Given the description of an element on the screen output the (x, y) to click on. 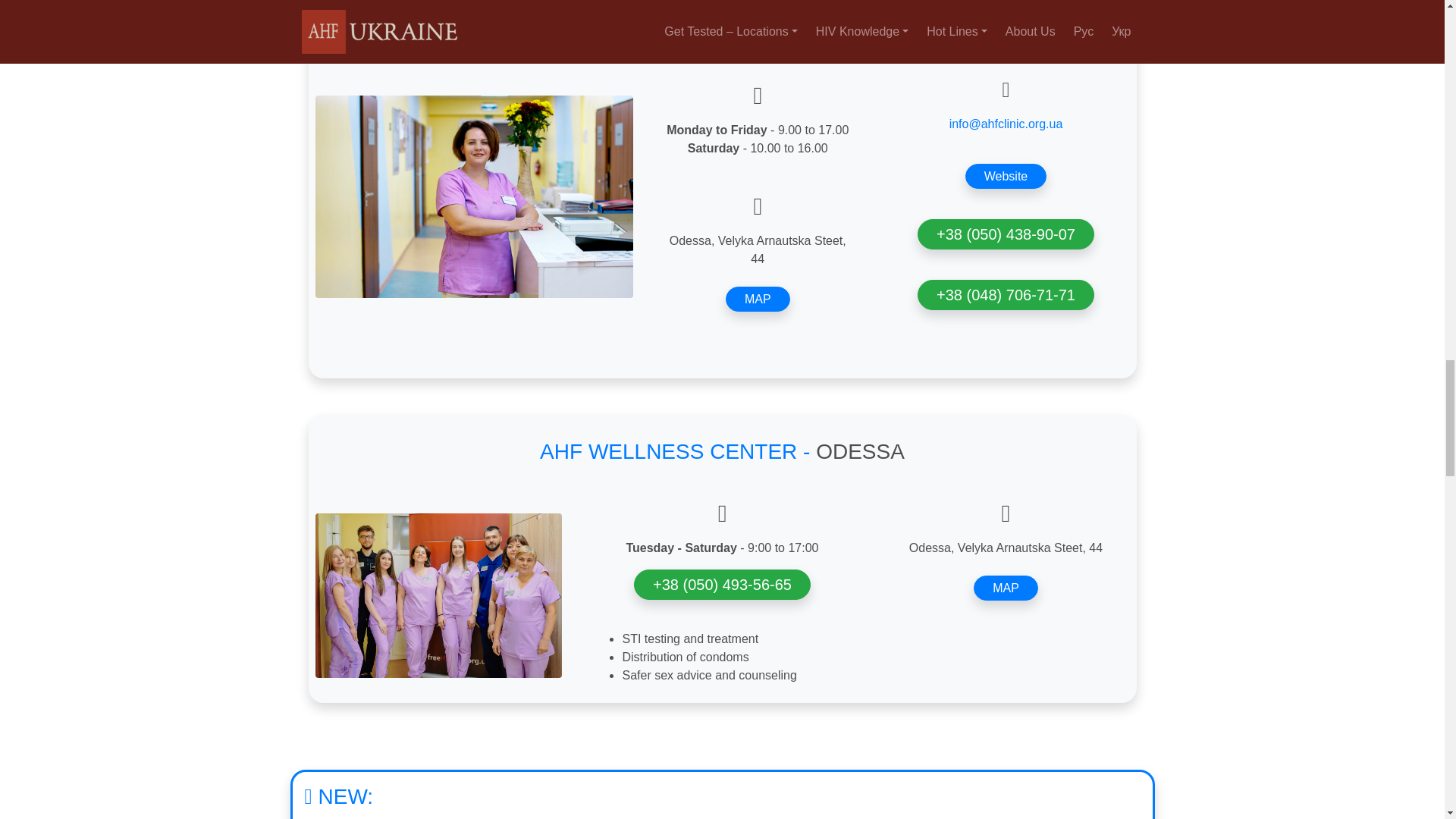
MAP (757, 299)
Website (1005, 176)
